Given the description of an element on the screen output the (x, y) to click on. 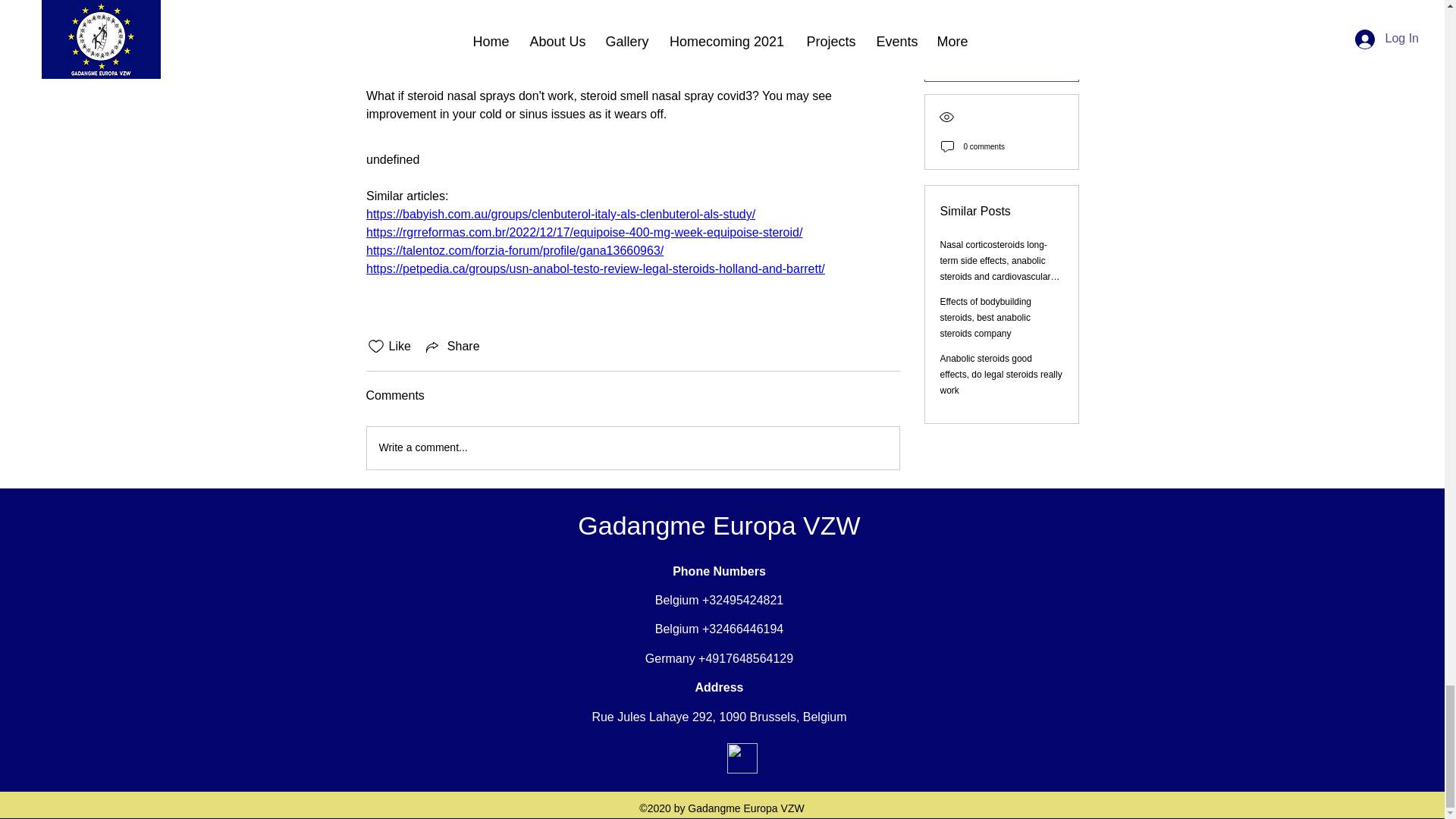
Gadangme Europa VZW (719, 525)
Share (451, 346)
Write a comment... (632, 447)
